Given the description of an element on the screen output the (x, y) to click on. 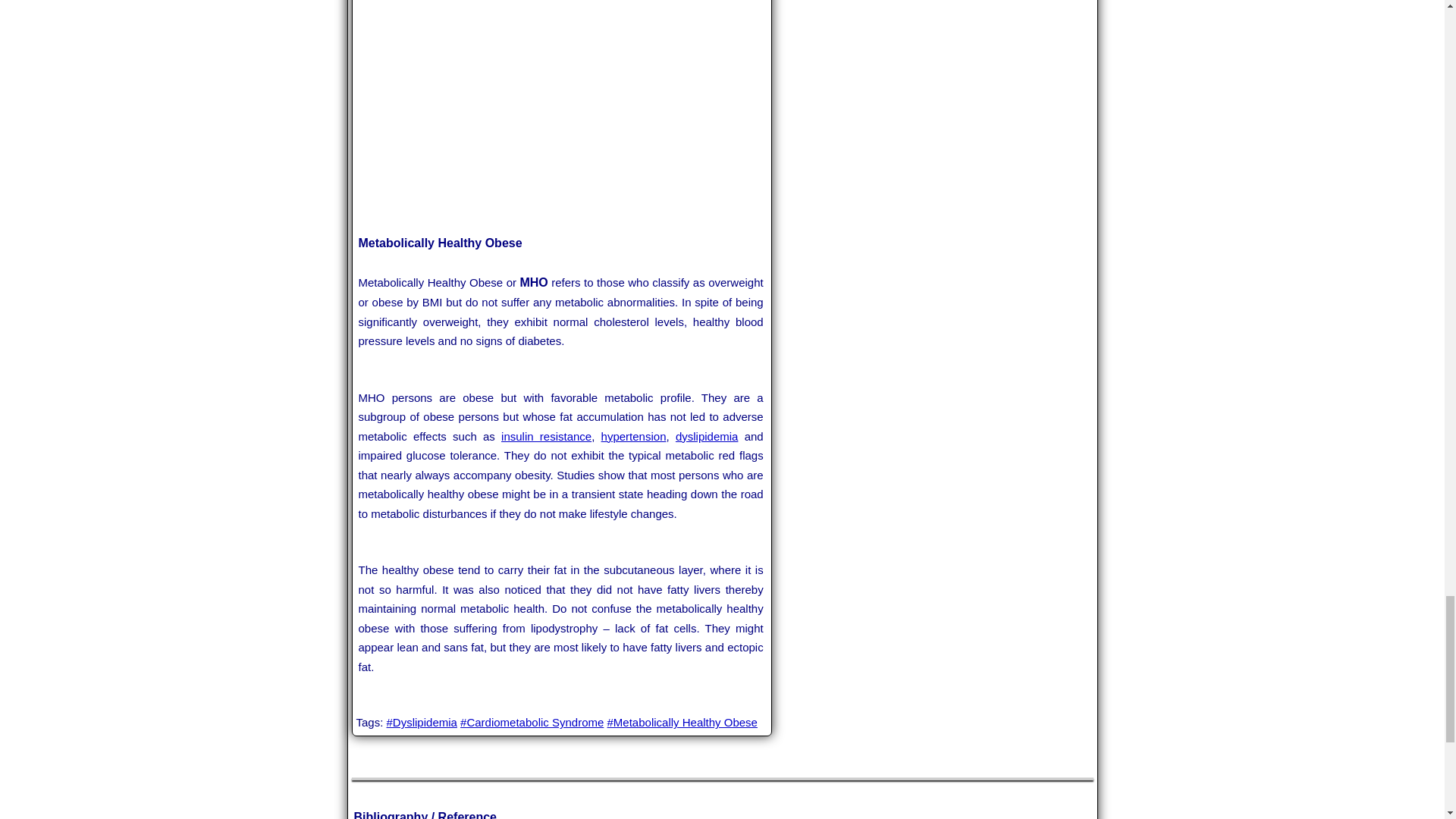
dyslipidemia (706, 436)
hypertension (633, 436)
insulin resistance (545, 436)
